Given the description of an element on the screen output the (x, y) to click on. 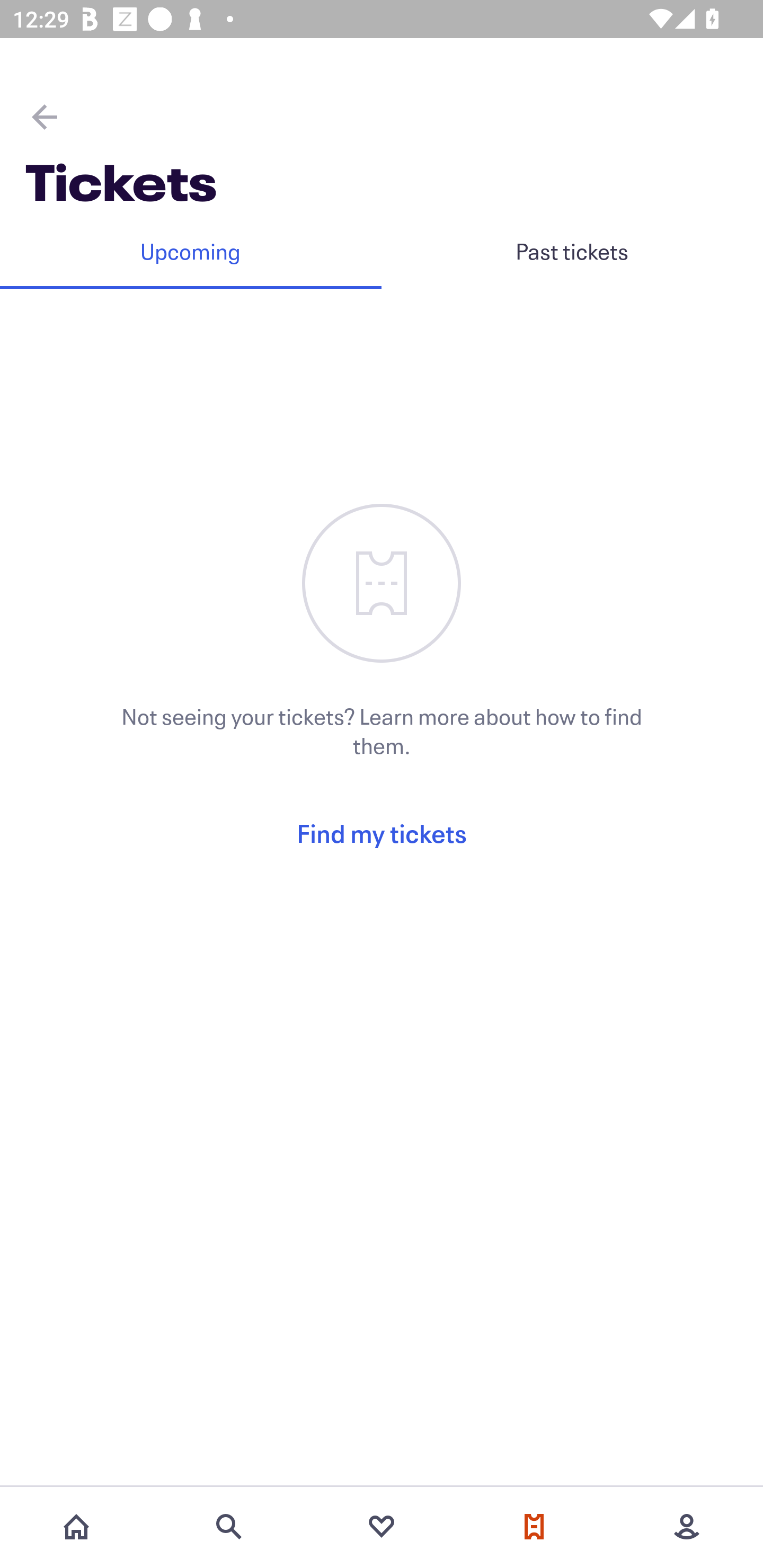
Navigate up (44, 116)
Past tickets (572, 250)
Find my tickets (381, 833)
Home (76, 1526)
Search events (228, 1526)
Favorites (381, 1526)
Tickets (533, 1526)
More (686, 1526)
